Given the description of an element on the screen output the (x, y) to click on. 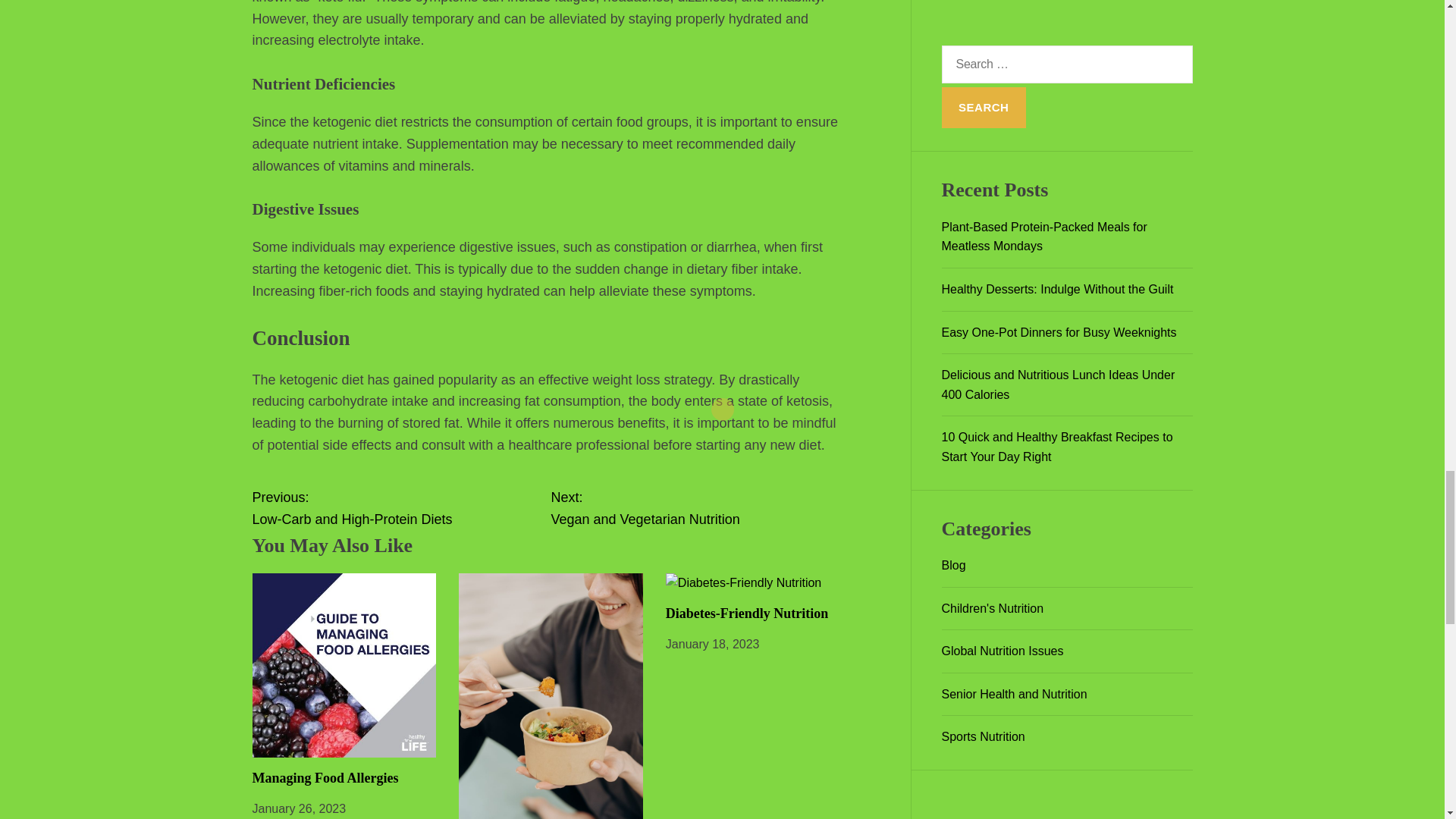
Managing Food Allergies (699, 508)
Diabetes-Friendly Nutrition (400, 508)
